Given the description of an element on the screen output the (x, y) to click on. 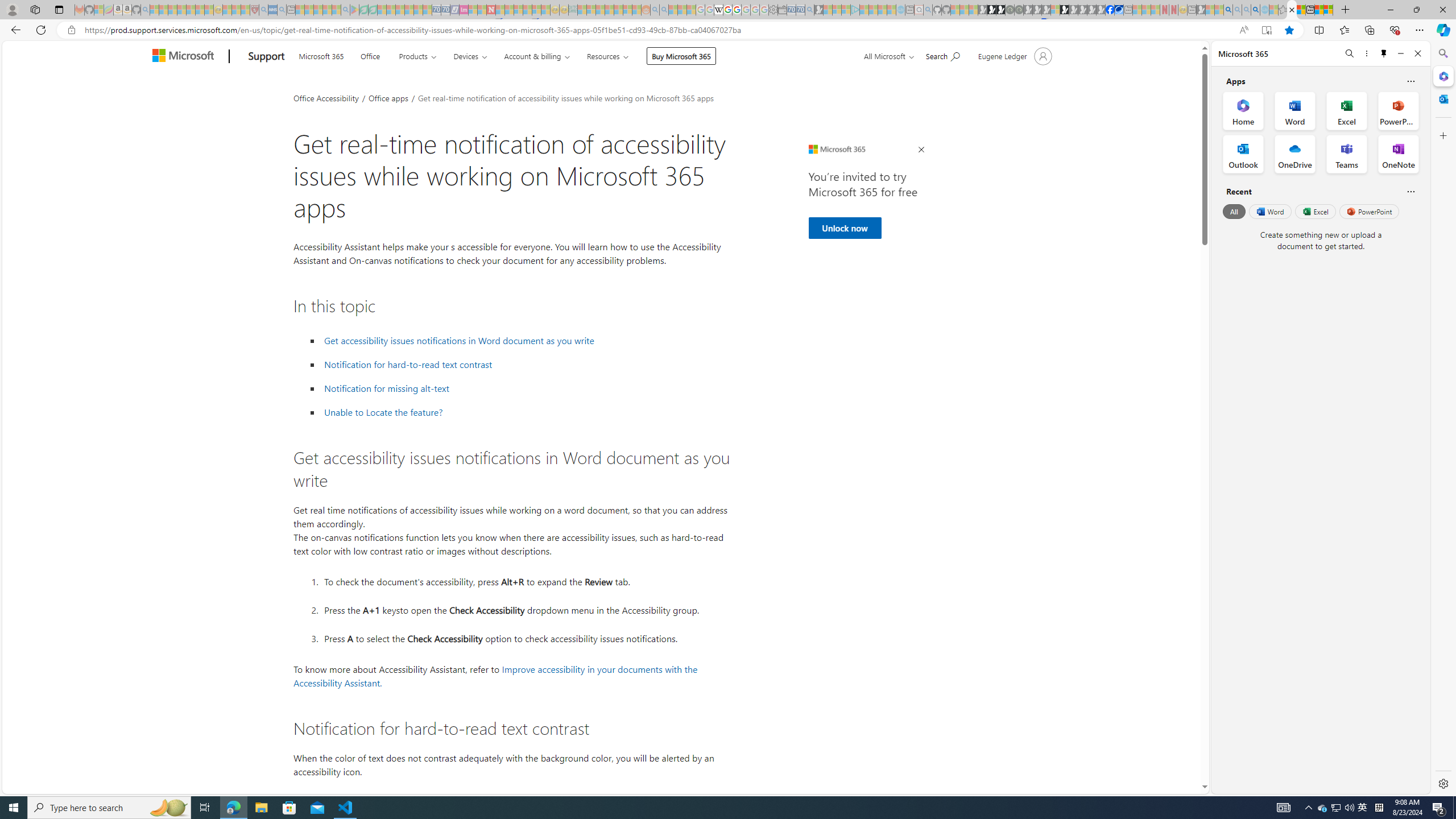
Office Accessibility (326, 97)
Target page - Wikipedia (718, 9)
 Notification for hard-to-read text contrast (408, 364)
All (1233, 210)
